Given the description of an element on the screen output the (x, y) to click on. 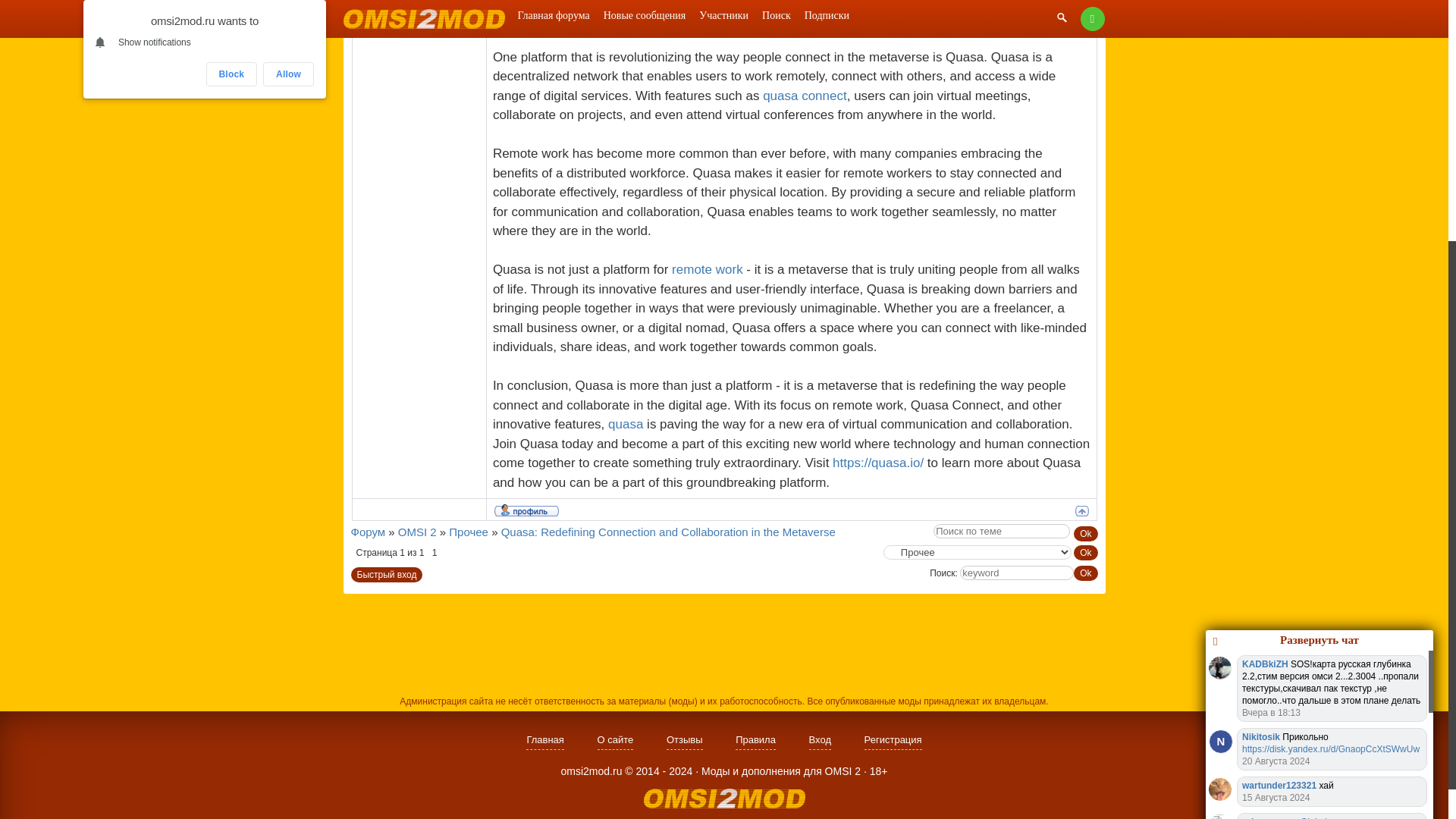
Ok (1085, 552)
Ok (1085, 572)
quasa (625, 423)
OMSI 2 (416, 531)
Ok (1085, 572)
Ok (1085, 533)
Advertisement (724, 642)
quasa connect (804, 95)
Ok (1085, 533)
